Given the description of an element on the screen output the (x, y) to click on. 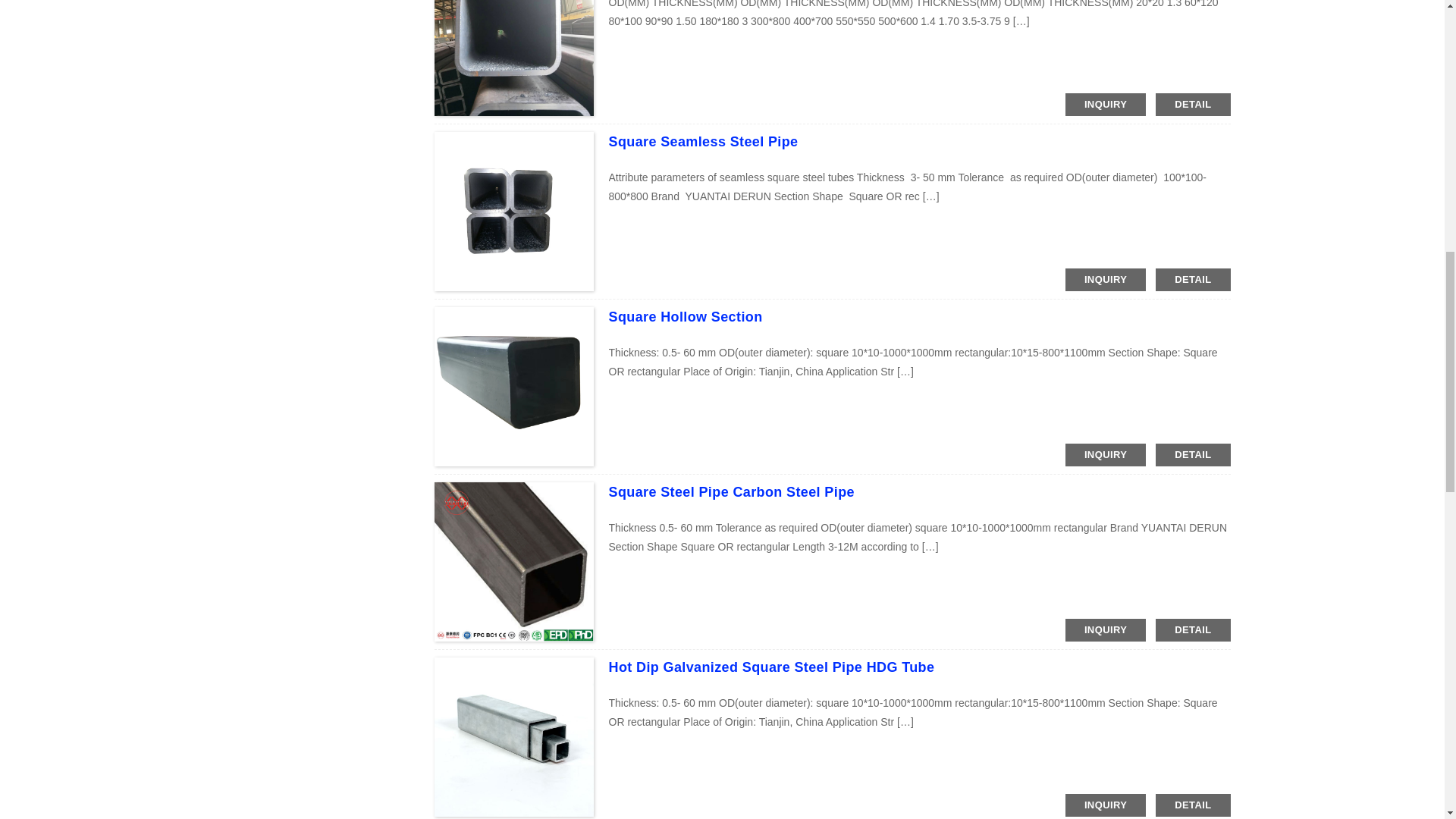
INQUIRY (1105, 279)
INQUIRY (1105, 454)
Square Seamless Steel Pipe (702, 141)
Square Steel Pipe Carbon Steel Pipe (730, 491)
Square Steel Pipe Carbon Steel Pipe (730, 491)
Square Seamless Steel Pipe (702, 141)
INQUIRY (1105, 104)
DETAIL (1193, 279)
DETAIL (1193, 104)
Square Hollow Section (684, 316)
Square Hollow Section (684, 316)
DETAIL (1193, 454)
